Given the description of an element on the screen output the (x, y) to click on. 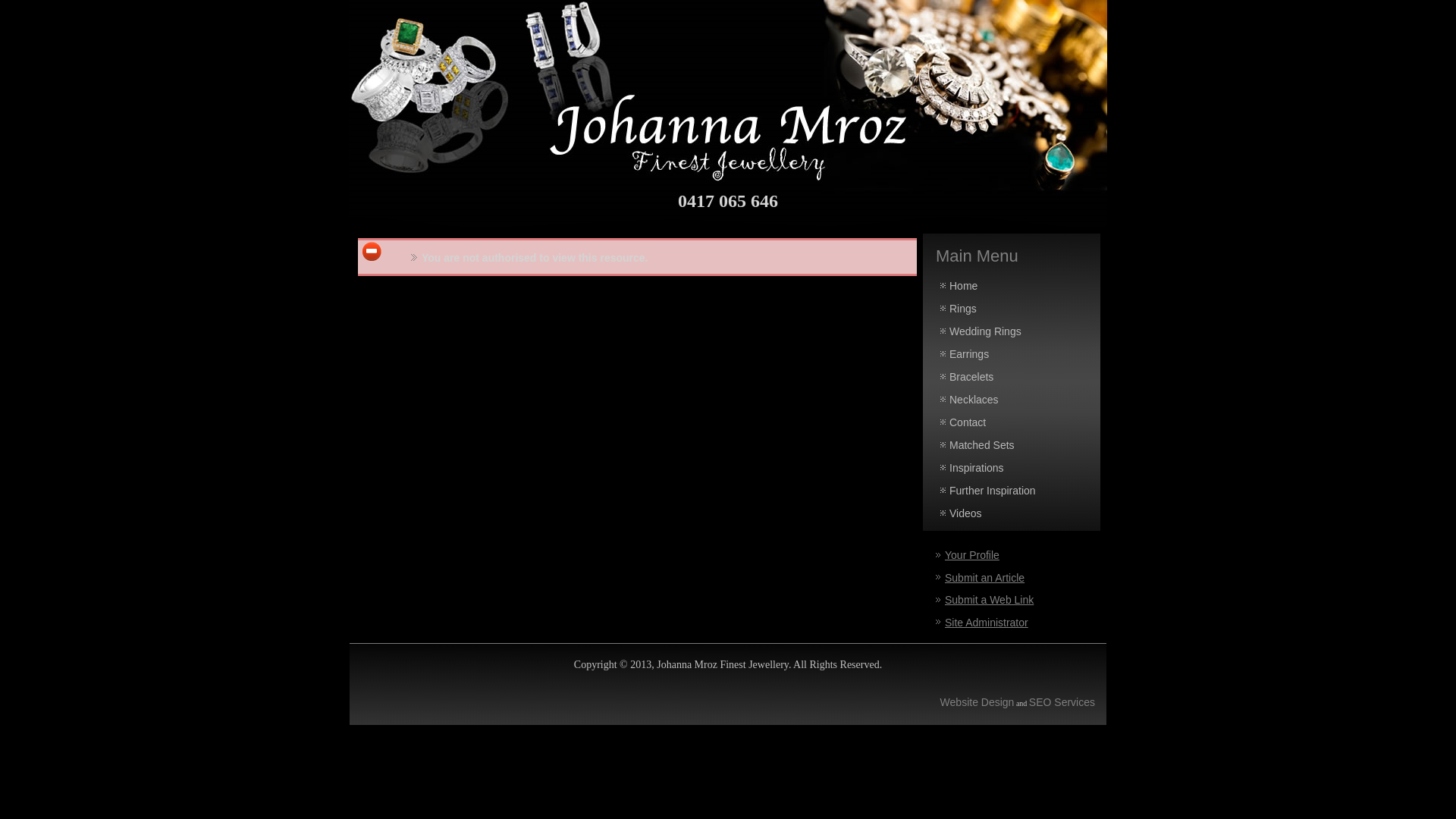
Rings Element type: text (1011, 308)
Inspirations Element type: text (1011, 467)
Contact Element type: text (1011, 422)
Videos Element type: text (1011, 513)
Matched Sets Element type: text (1011, 444)
Website Design Element type: text (977, 702)
Submit an Article Element type: text (984, 577)
Submit a Web Link Element type: text (988, 599)
Further Inspiration Element type: text (1011, 490)
Home Element type: text (1011, 285)
SEO Services Element type: text (1062, 702)
Necklaces Element type: text (1011, 399)
Bracelets Element type: text (1011, 376)
Your Profile Element type: text (971, 555)
Site Administrator Element type: text (986, 622)
Wedding Rings Element type: text (1011, 331)
Earrings Element type: text (1011, 353)
